Given the description of an element on the screen output the (x, y) to click on. 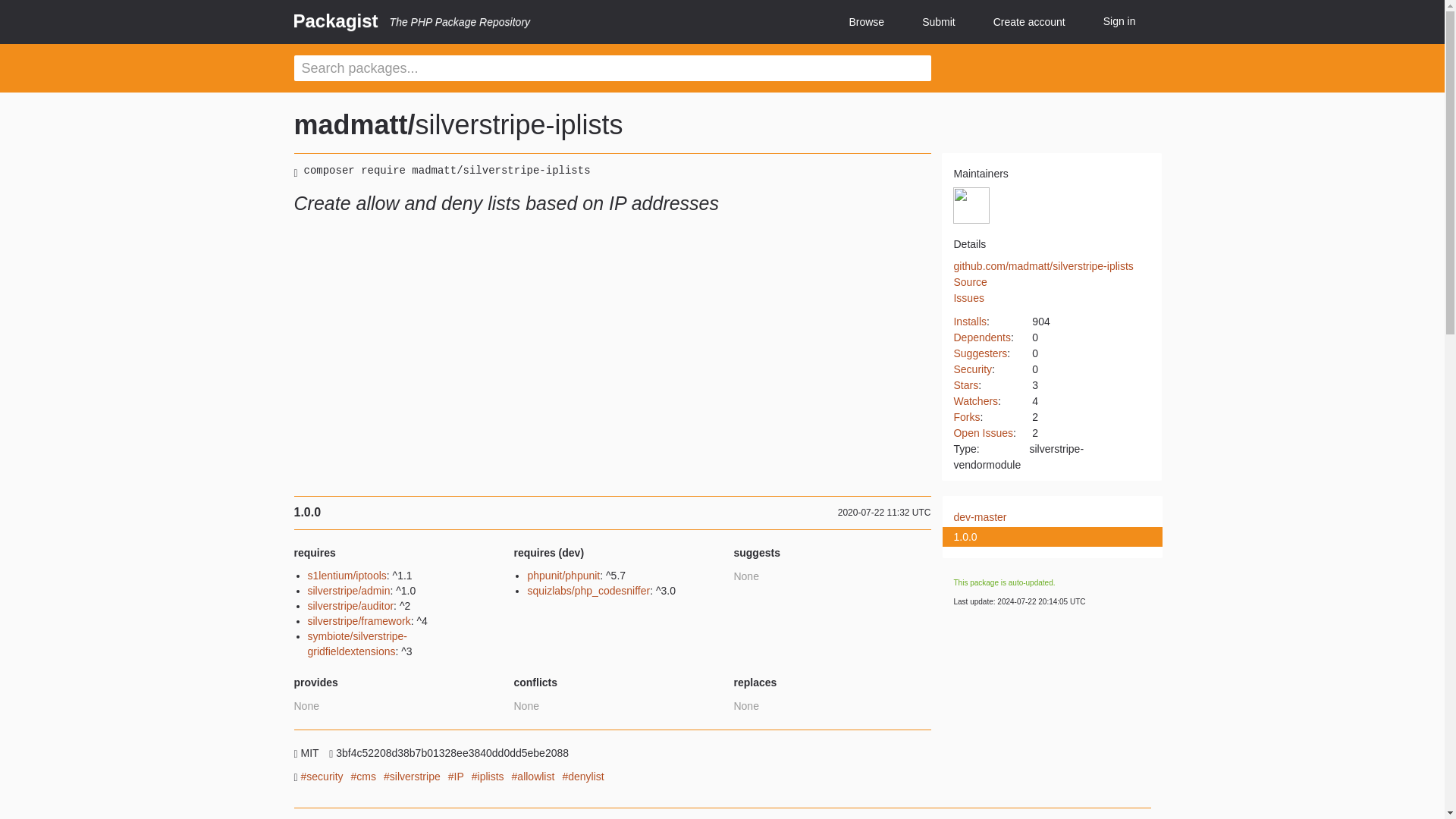
Suggesters (980, 353)
Dependents (981, 337)
Canonical Repository URL (1042, 265)
cms (362, 776)
Watchers (975, 400)
dev-master (1043, 517)
madmatt (971, 205)
Open Issues (983, 432)
allowlist (533, 776)
IP (456, 776)
Source (970, 282)
Sign in (1119, 21)
Browse (865, 22)
Submit (938, 22)
Security (972, 369)
